Given the description of an element on the screen output the (x, y) to click on. 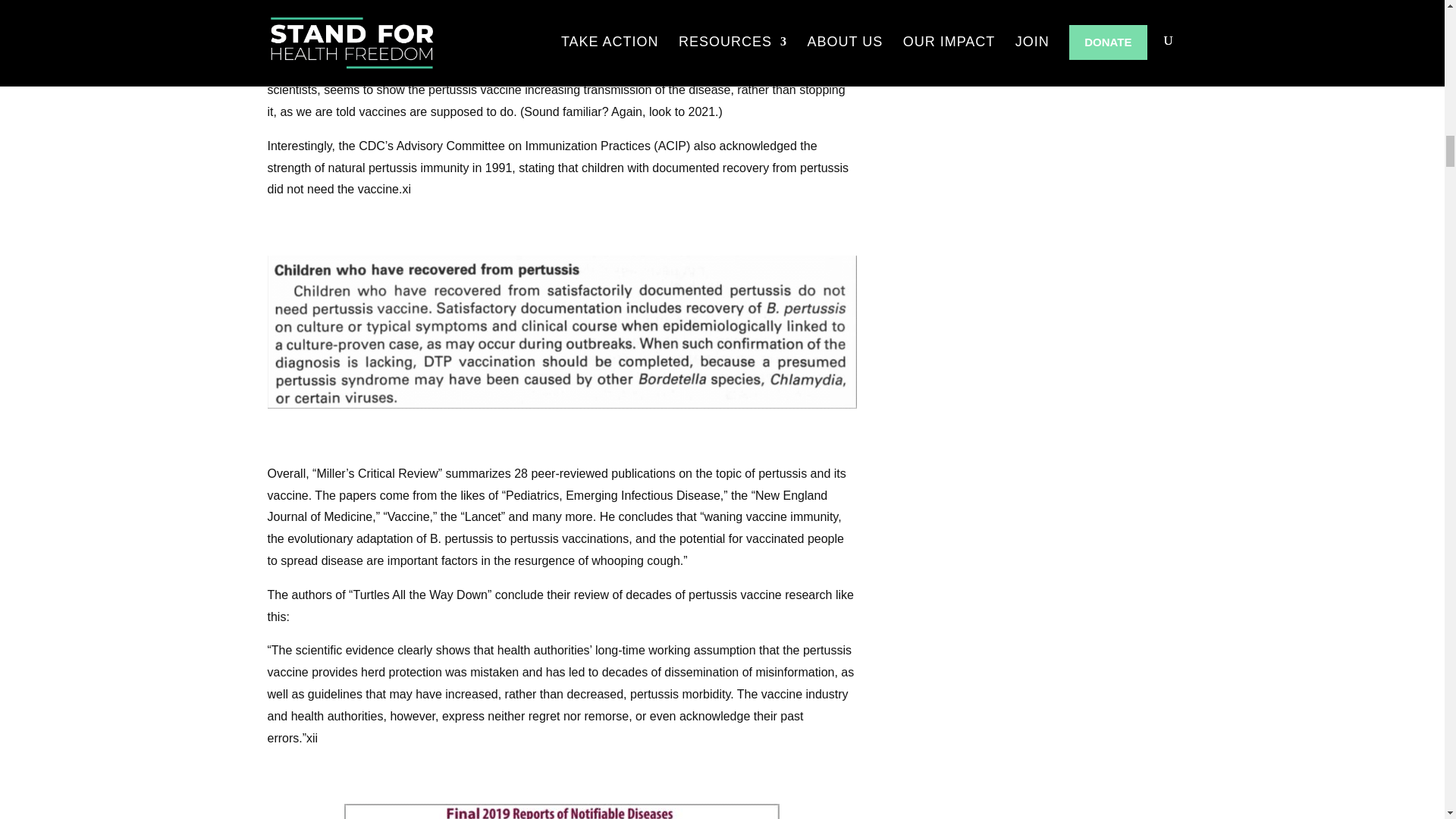
Screenshot 2023-07-19 at 10.00.34 PM (561, 331)
Screenshot 2023-07-19 at 10.01.57 PM (560, 811)
